Given the description of an element on the screen output the (x, y) to click on. 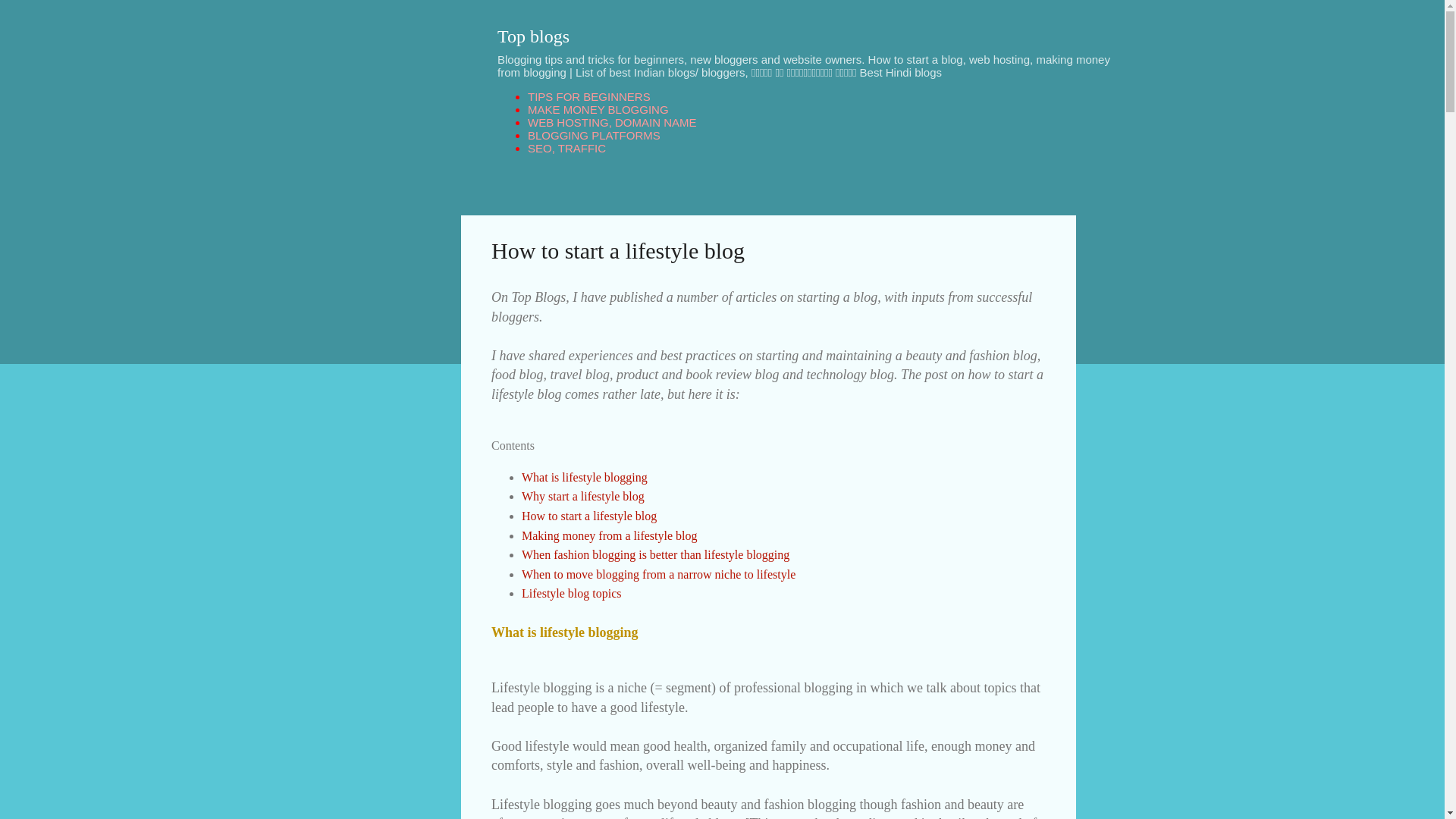
Search (29, 18)
WEB HOSTING, DOMAIN NAME (612, 122)
Making money from a lifestyle blog (609, 535)
TIPS FOR BEGINNERS (588, 96)
When to move blogging from a narrow niche to lifestyle (657, 574)
SEO, TRAFFIC (566, 147)
When fashion blogging is better than lifestyle blogging (655, 554)
Lifestyle blog topics (571, 593)
How to start a lifestyle blog (588, 515)
Why start a lifestyle blog (583, 495)
